Given the description of an element on the screen output the (x, y) to click on. 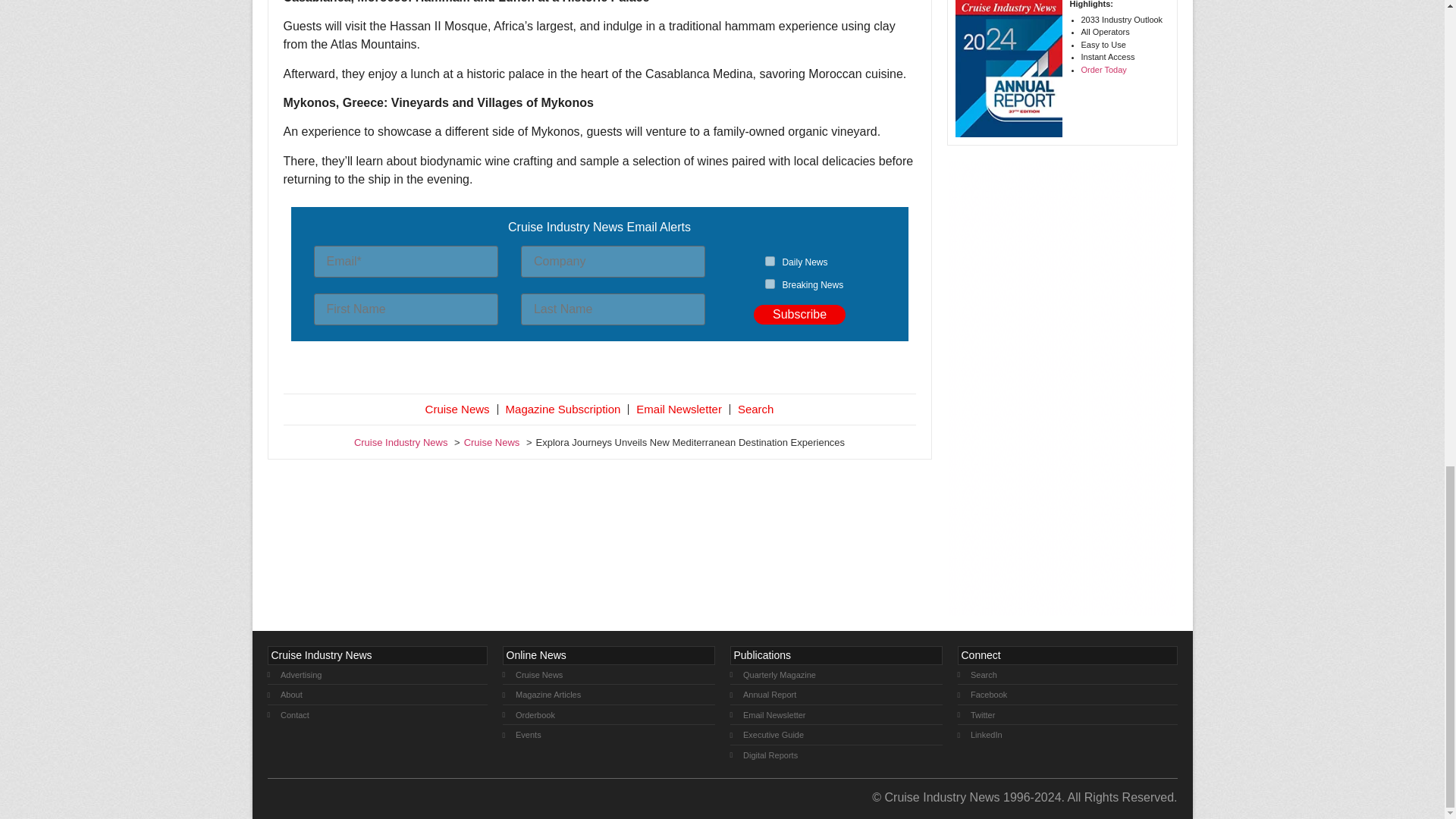
Subscribe (799, 314)
1 (769, 261)
2 (769, 284)
